Given the description of an element on the screen output the (x, y) to click on. 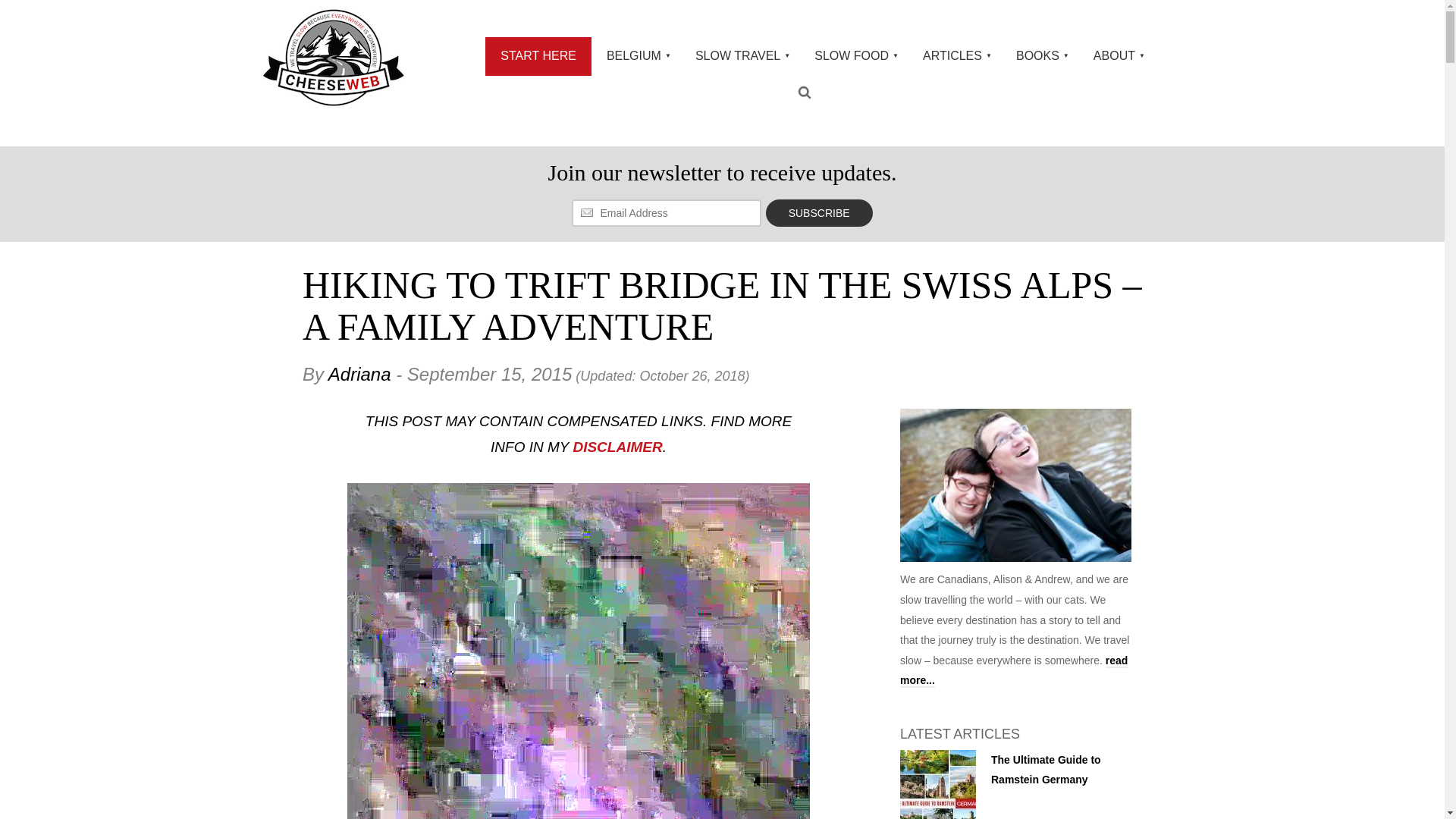
BELGIUM (635, 56)
Subscribe (818, 212)
The Ultimate Guide to Ramstein Germany (937, 784)
CheeseWeb (333, 56)
About (1012, 671)
START HERE (537, 56)
About (1015, 489)
SLOW TRAVEL (739, 56)
The Ultimate Guide to Ramstein Germany (1045, 769)
